Given the description of an element on the screen output the (x, y) to click on. 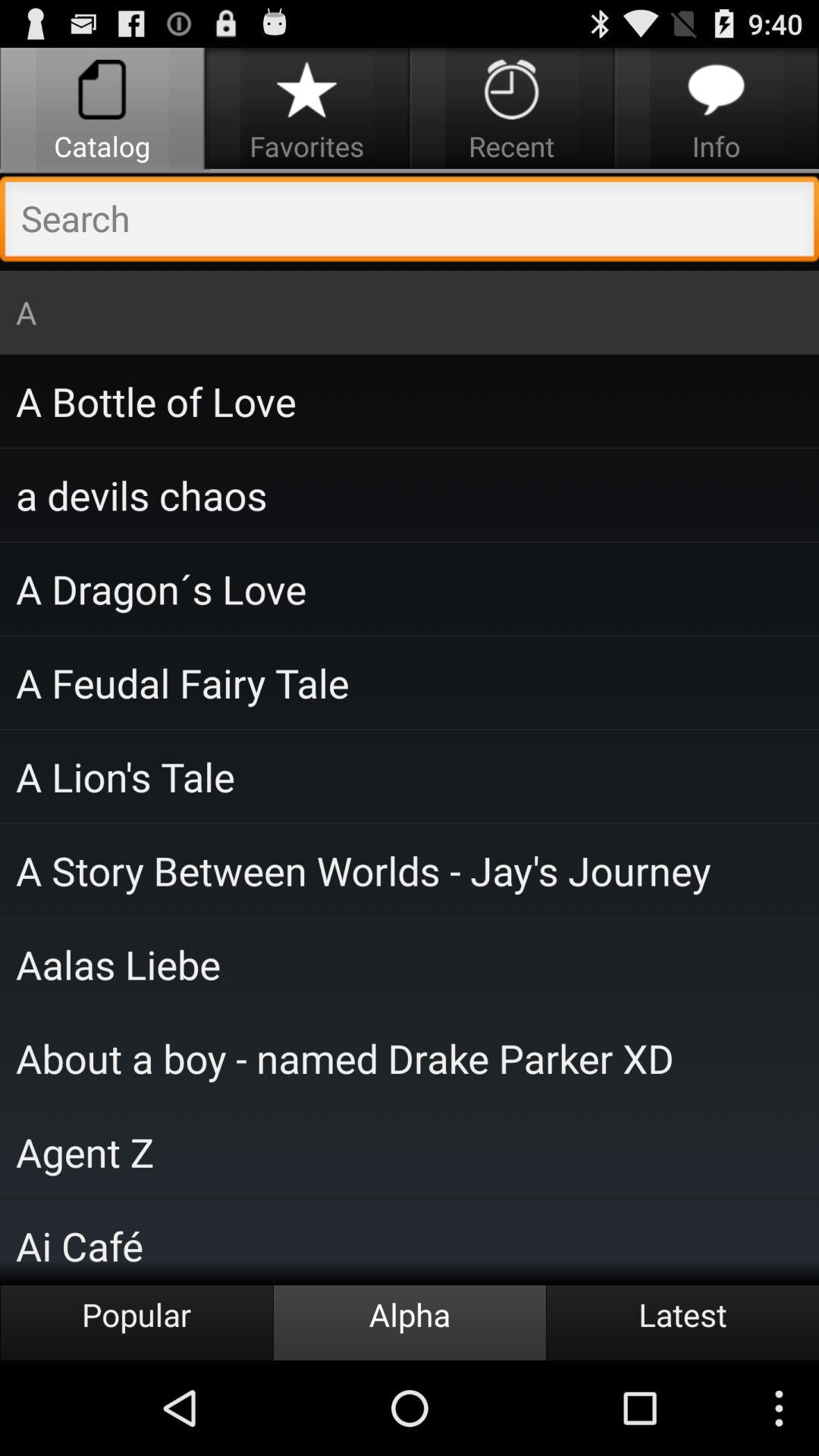
turn on the item at the bottom left corner (136, 1322)
